Given the description of an element on the screen output the (x, y) to click on. 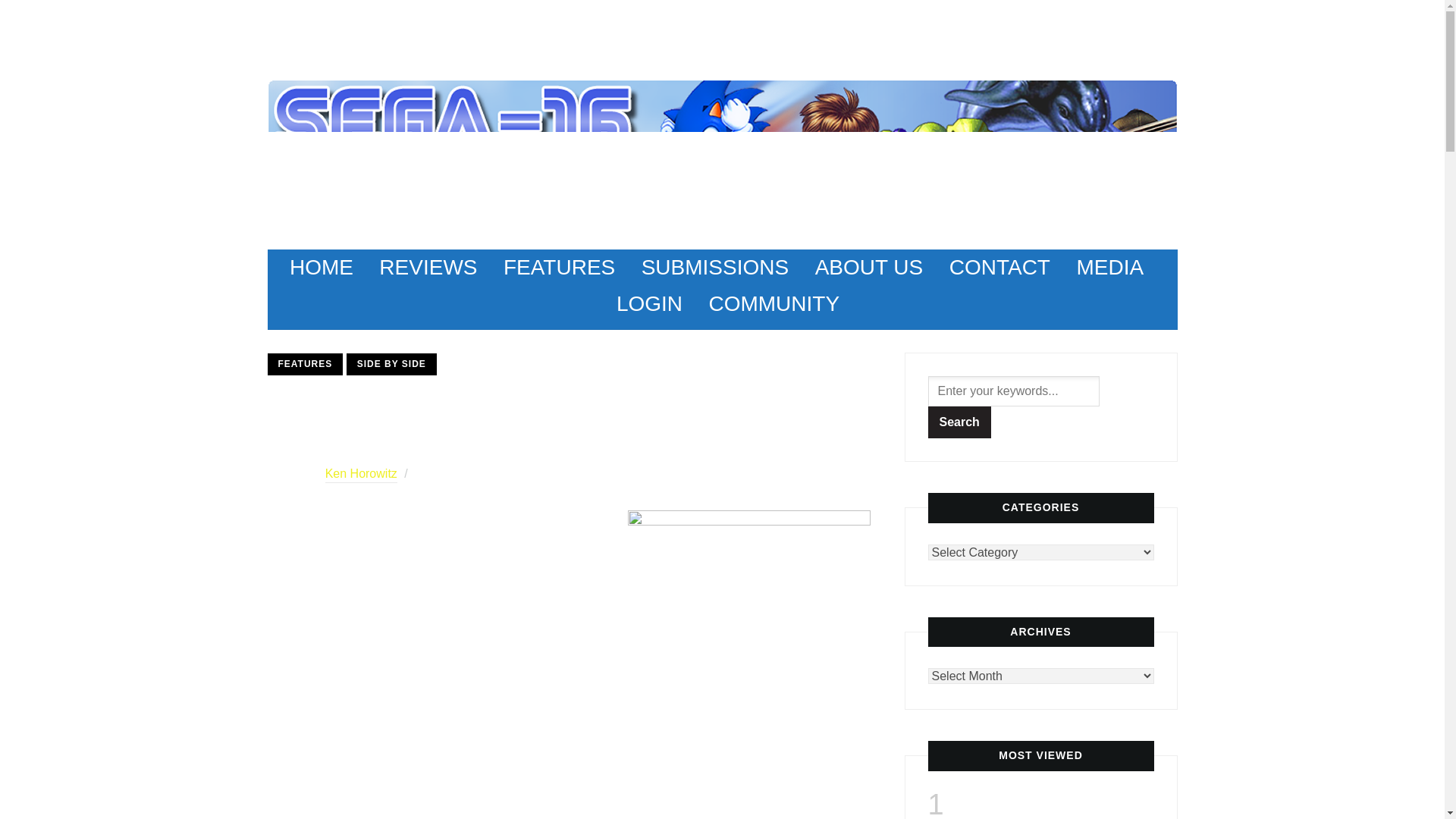
Search (959, 422)
Posts by Ken Horowitz (360, 474)
Search (959, 422)
Side by Side- Forgotten Worlds 5 (748, 583)
ABOUT US (869, 267)
SUBMISSIONS (715, 267)
REVIEWS (427, 267)
FEATURES (558, 267)
HOME (321, 267)
